Given the description of an element on the screen output the (x, y) to click on. 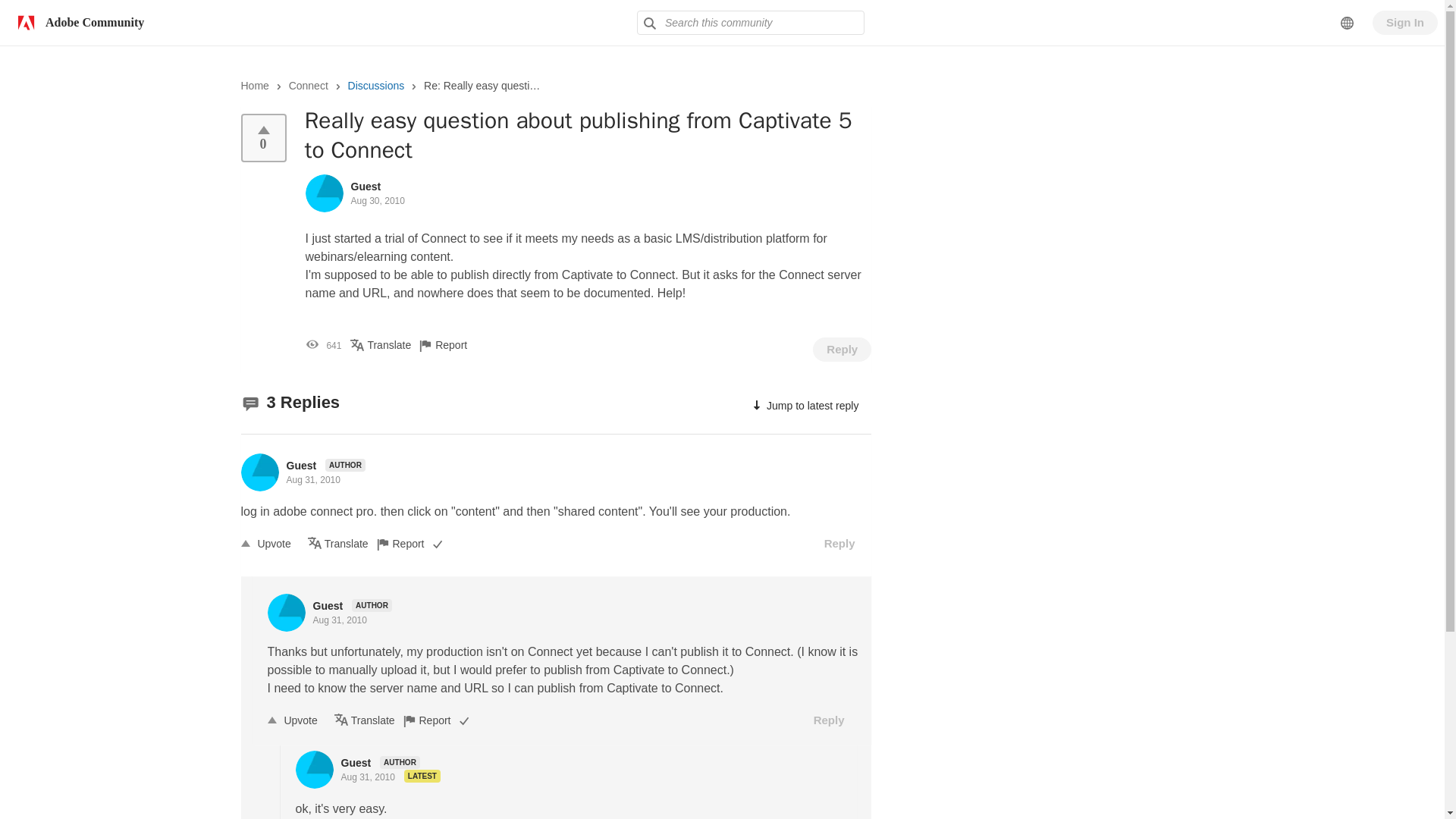
Reply (841, 349)
Report (410, 542)
Reply (839, 543)
Home (255, 85)
Adobe Community (77, 22)
Sign In (1405, 22)
Guest (365, 186)
Search (649, 22)
Search (750, 22)
Search (649, 22)
Report (454, 345)
SignIn (1405, 22)
Jump to latest reply (804, 405)
Connect (308, 85)
Guest (303, 465)
